Given the description of an element on the screen output the (x, y) to click on. 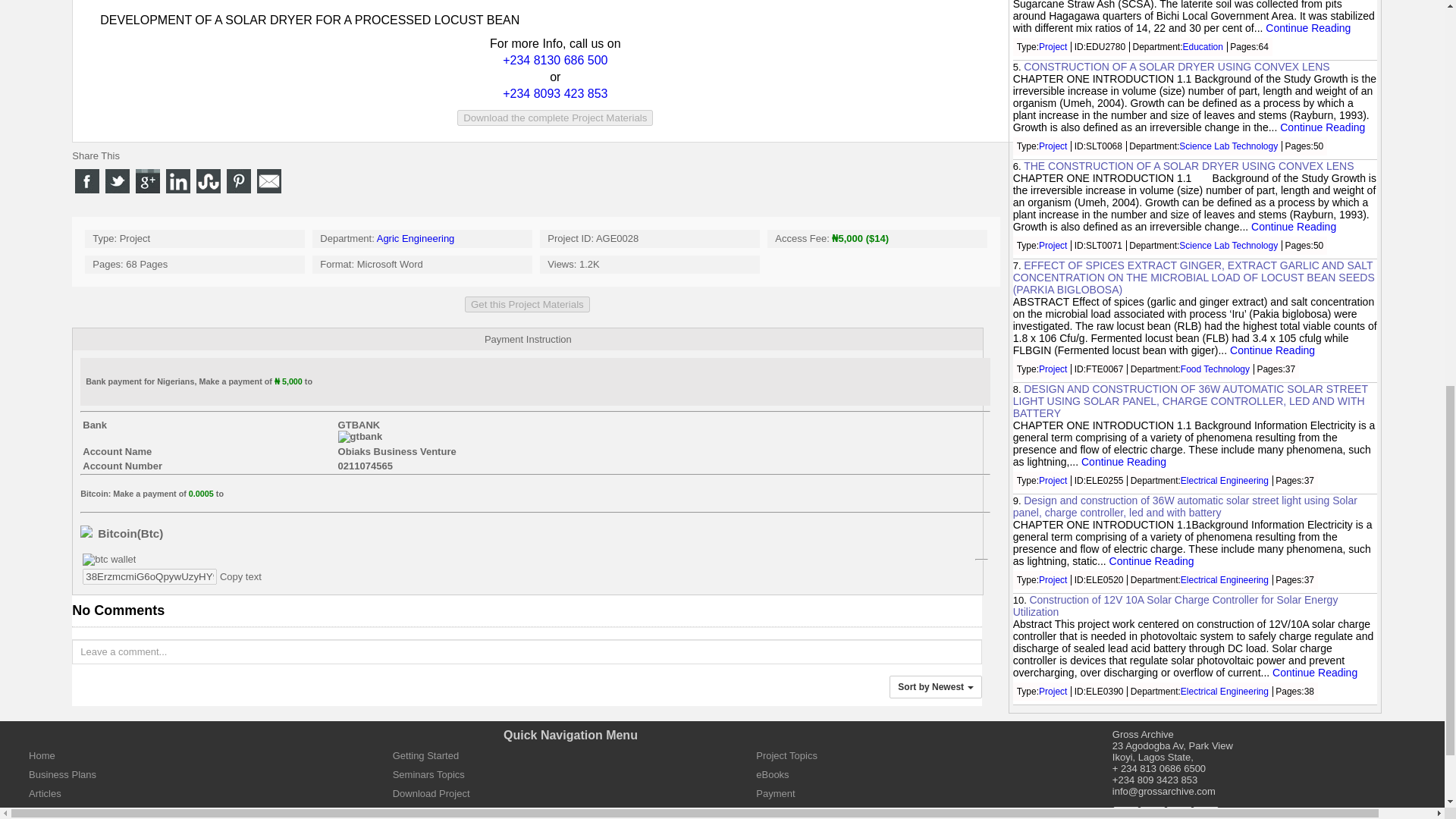
Share on Facebook (87, 180)
Pintrest (1153, 812)
Share on StumbleUpon (208, 180)
Share on Twitter (116, 180)
Share on Google Plus (147, 180)
Share on LinkedIn (177, 180)
Share by Email (269, 180)
Facebook (1125, 812)
Share on Pinterst (238, 180)
Twitter (1205, 812)
Google Plus (1179, 812)
38ErzmcmiG6oQpywUzyHY9ch6U8ime35ys (149, 576)
